Given the description of an element on the screen output the (x, y) to click on. 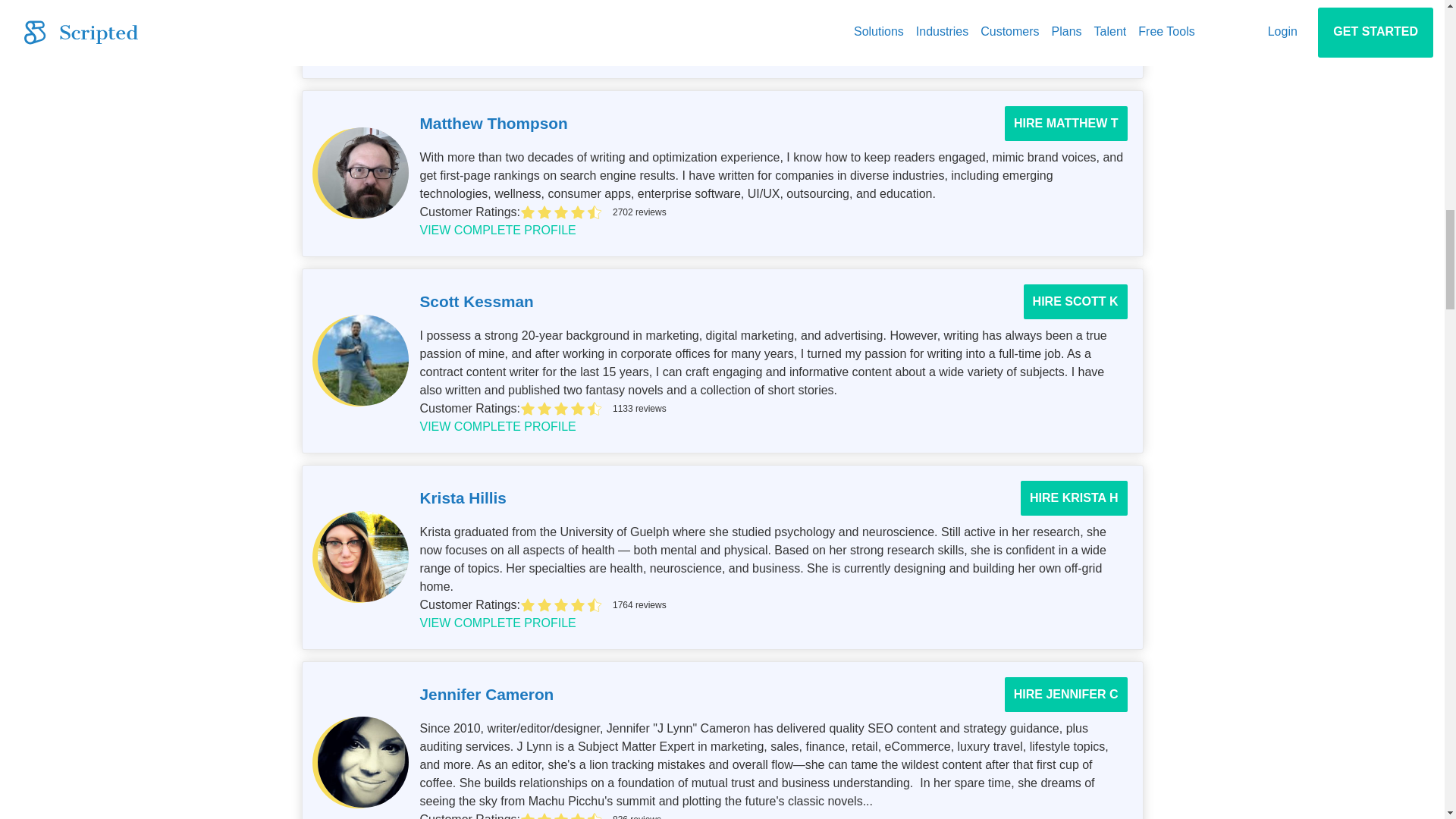
4.8 Average Rating (822, 212)
4.9 Average Rating (822, 815)
5.0 Average Rating (822, 32)
4.8 Average Rating (822, 407)
4.8 Average Rating (822, 604)
